Given the description of an element on the screen output the (x, y) to click on. 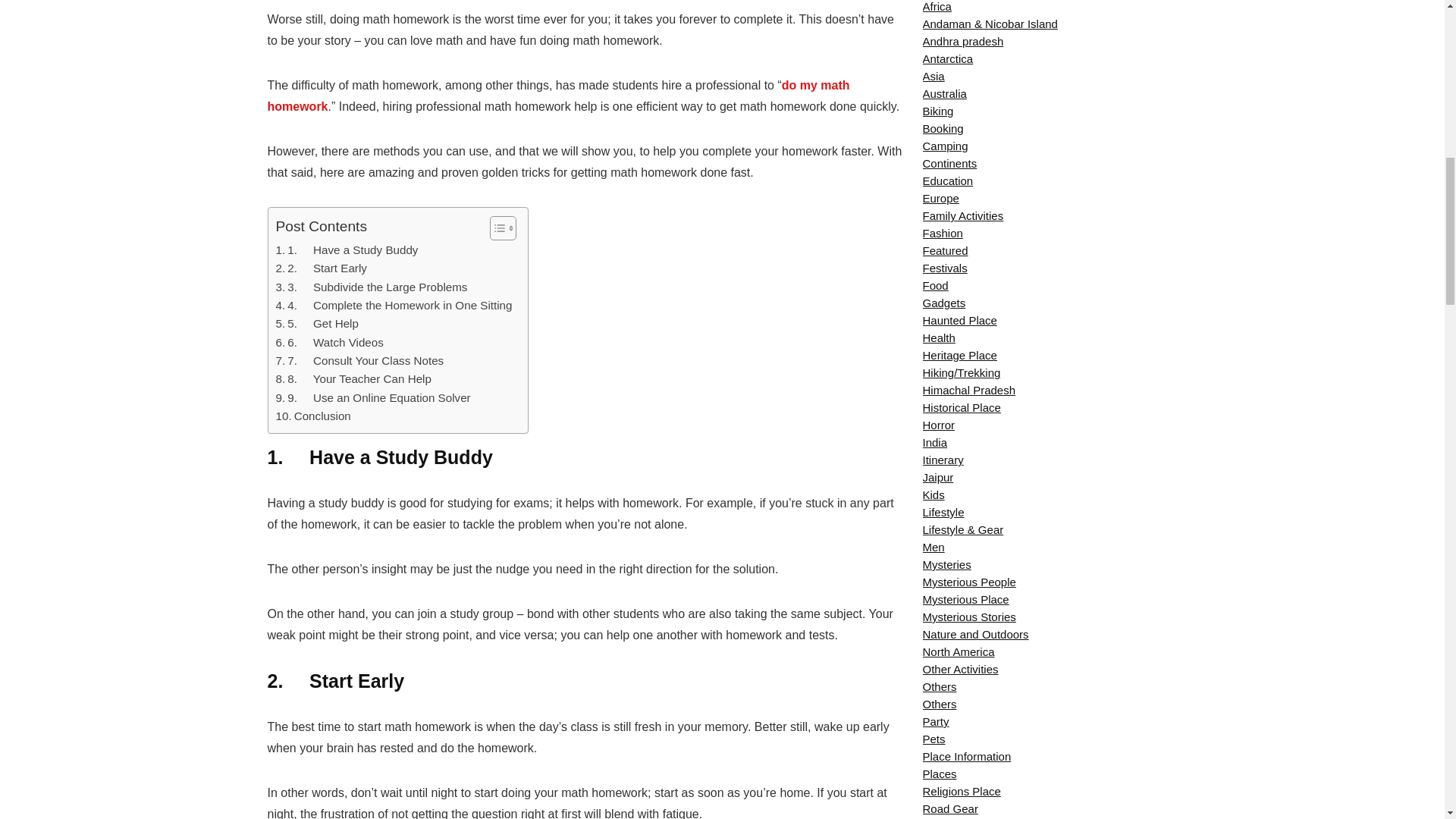
Conclusion (313, 416)
